Given the description of an element on the screen output the (x, y) to click on. 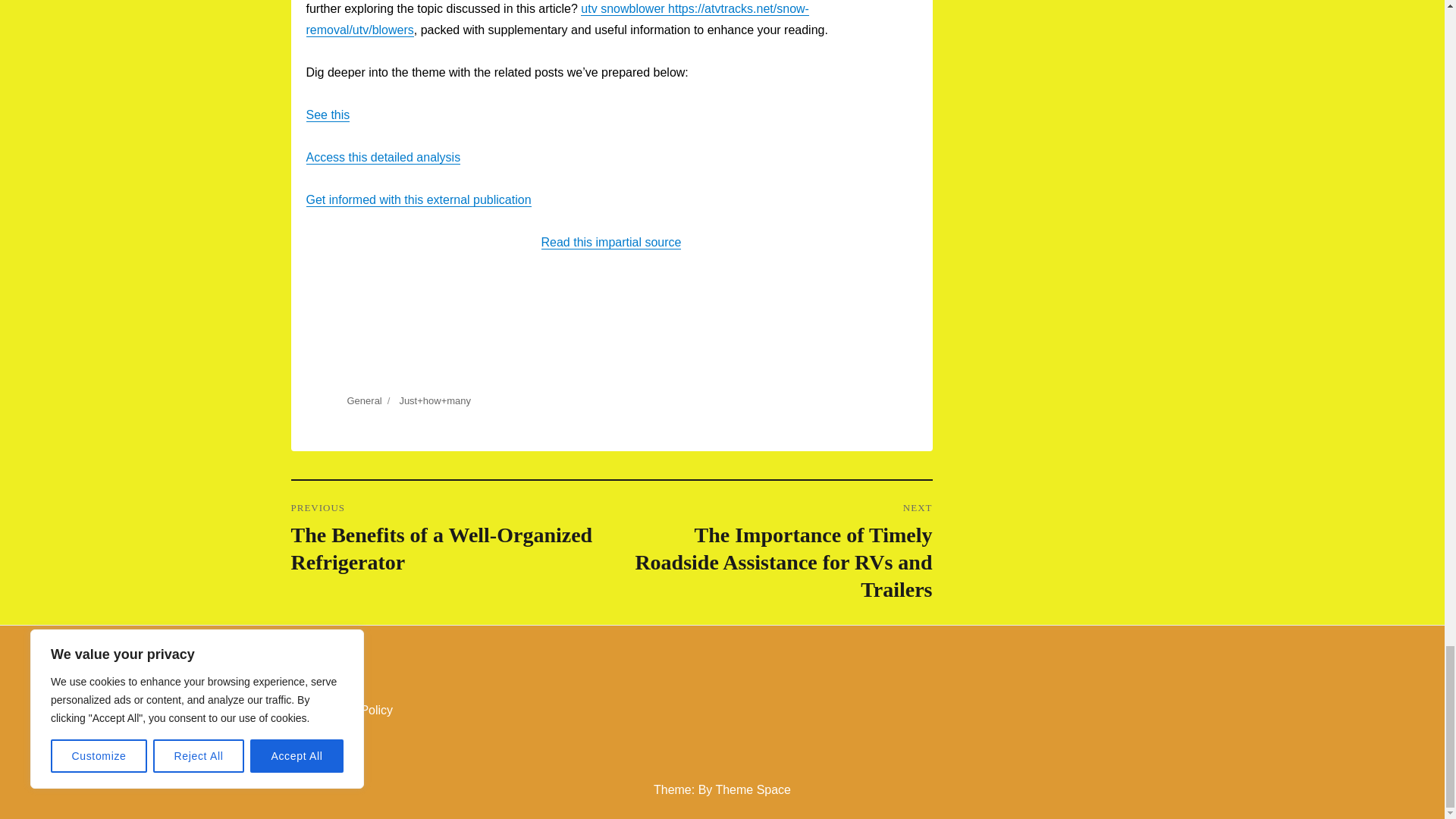
Access this detailed analysis (383, 156)
See this (327, 114)
General (364, 400)
Read this impartial source (611, 241)
Get informed with this external publication (418, 199)
